Given the description of an element on the screen output the (x, y) to click on. 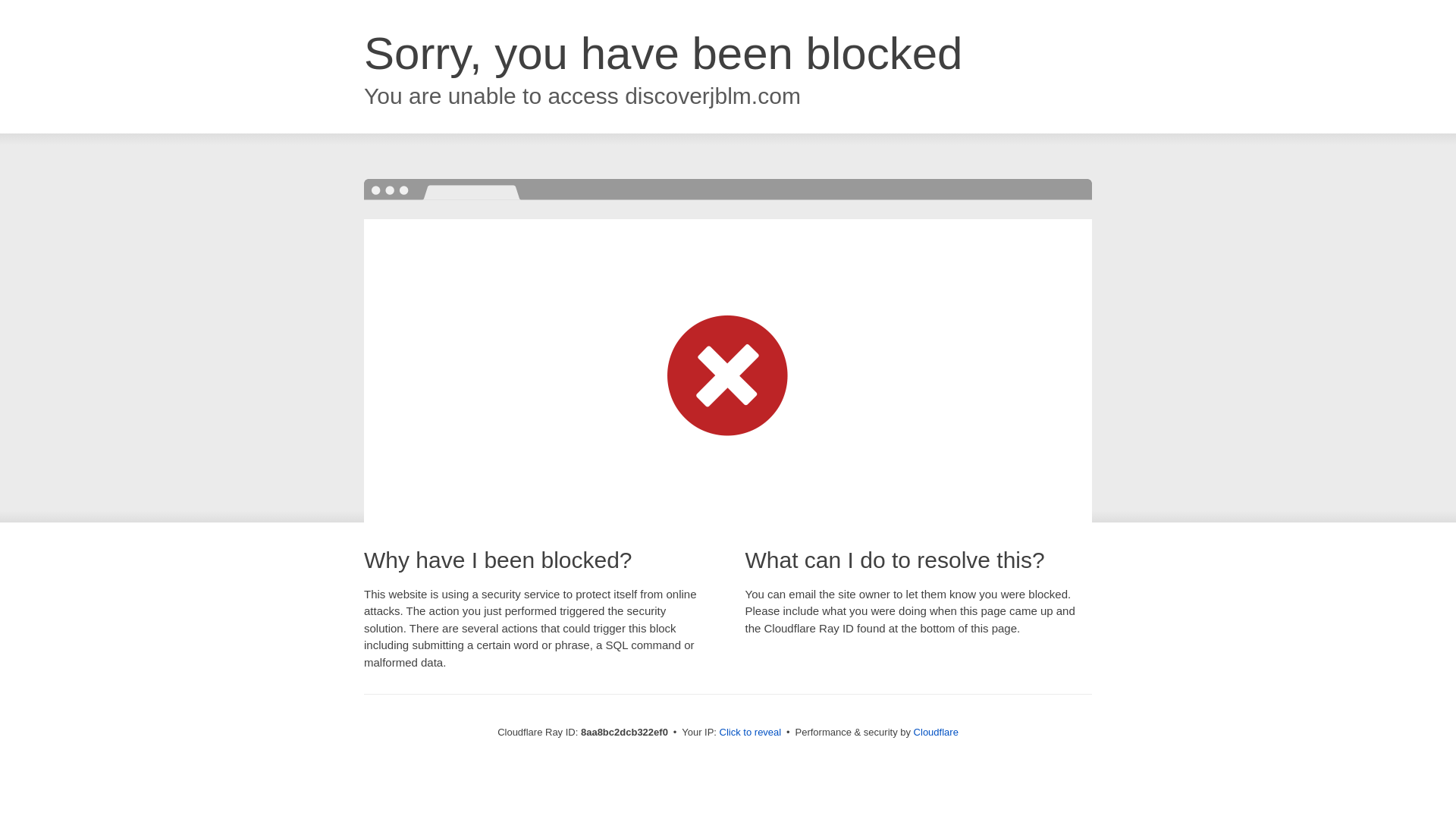
Cloudflare (936, 731)
Click to reveal (750, 732)
